Given the description of an element on the screen output the (x, y) to click on. 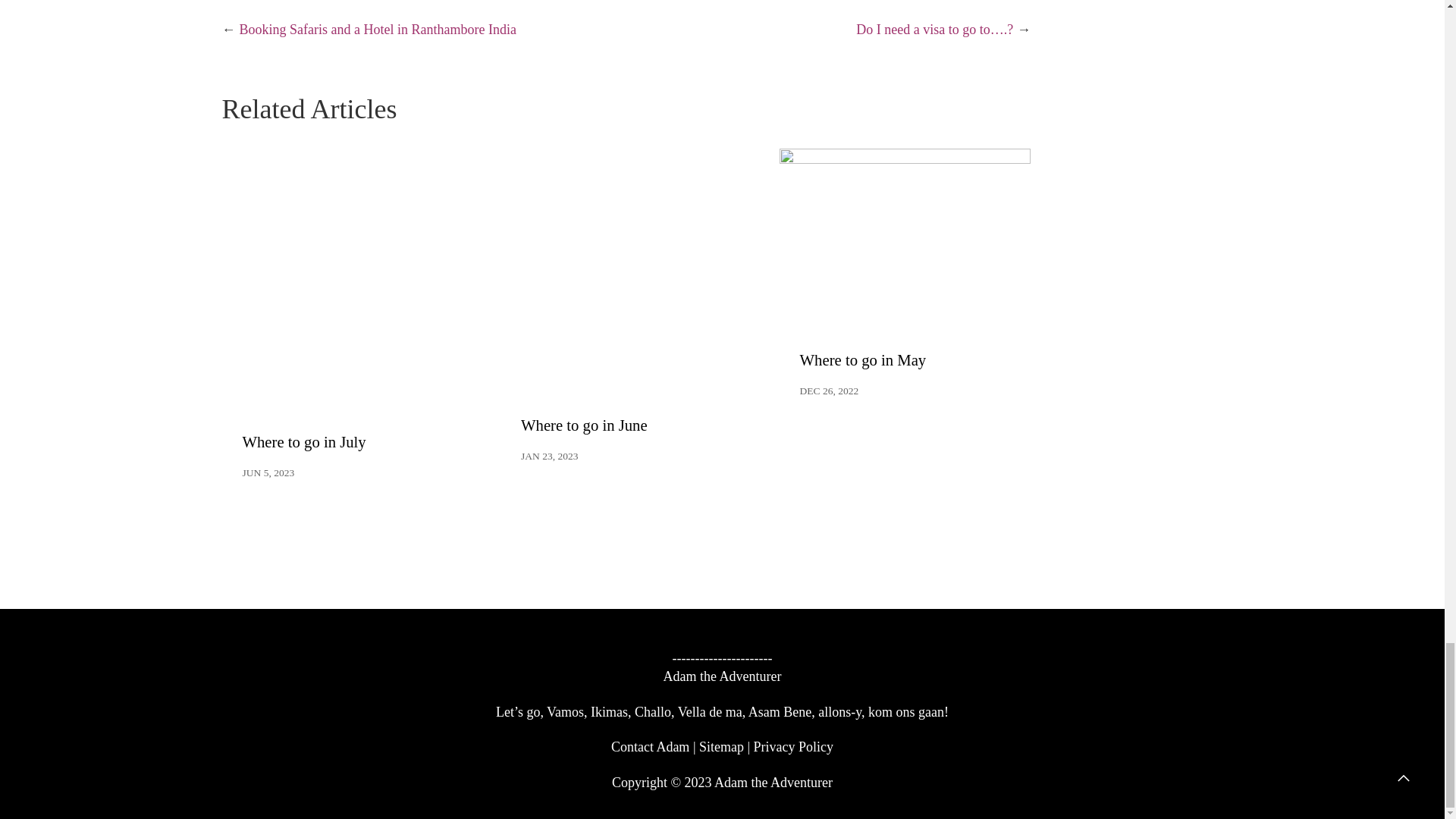
JAN 23, 2023 (549, 456)
Booking Safaris and a Hotel in Ranthambore India (378, 29)
Where to go in June (584, 425)
DEC 26, 2022 (829, 391)
Where to go in July (304, 442)
JUN 5, 2023 (269, 472)
Where to go in May (862, 360)
